Given the description of an element on the screen output the (x, y) to click on. 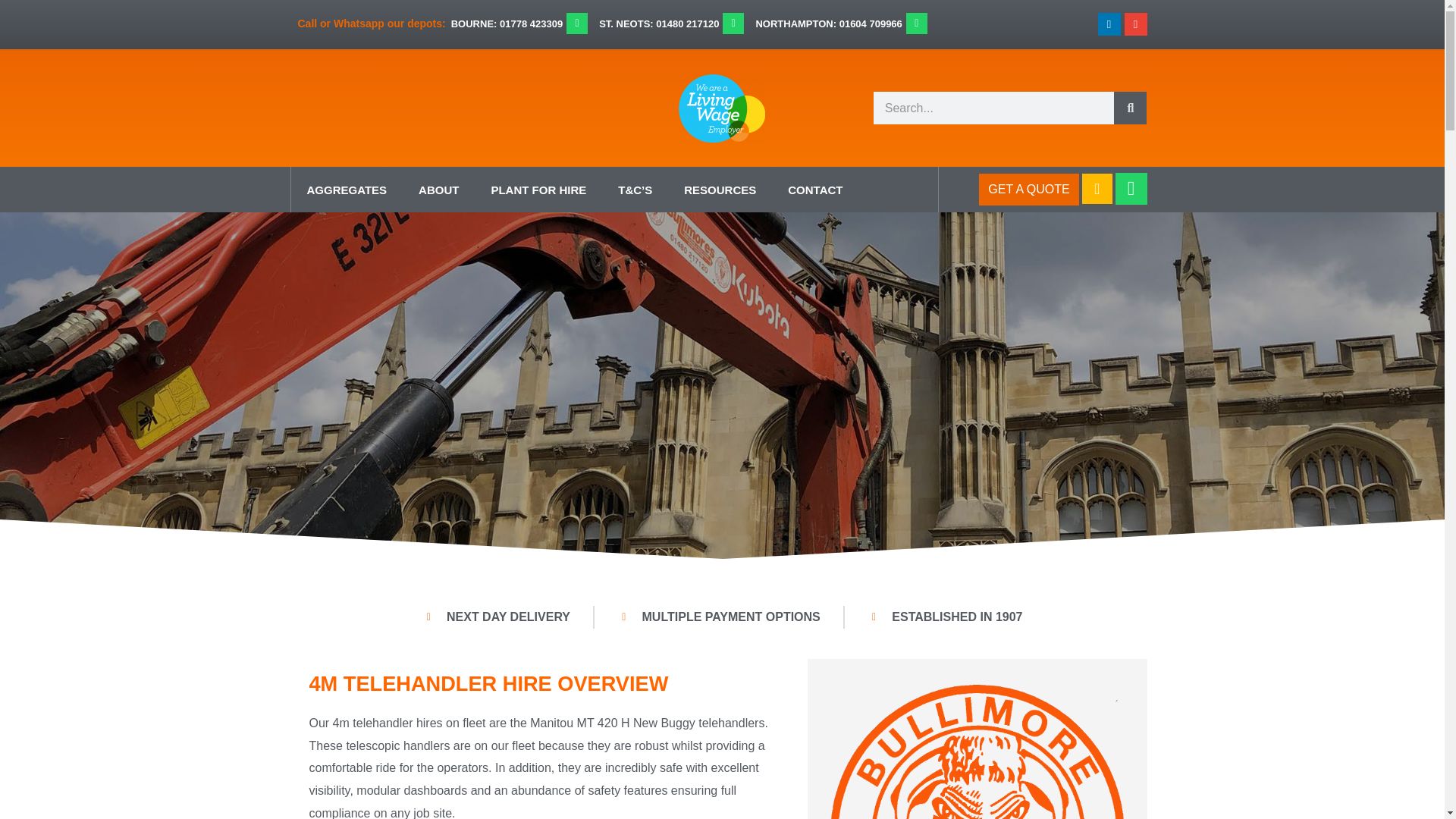
AGGREGATES (347, 189)
ABOUT (438, 189)
NORTHAMPTON: 01604 709966 (828, 23)
living-wage-logo (721, 108)
Search (993, 107)
Search (1130, 107)
PLANT FOR HIRE (538, 189)
BOURNE: 01778 423309 (506, 23)
ST. NEOTS: 01480 217120 (658, 23)
